Given the description of an element on the screen output the (x, y) to click on. 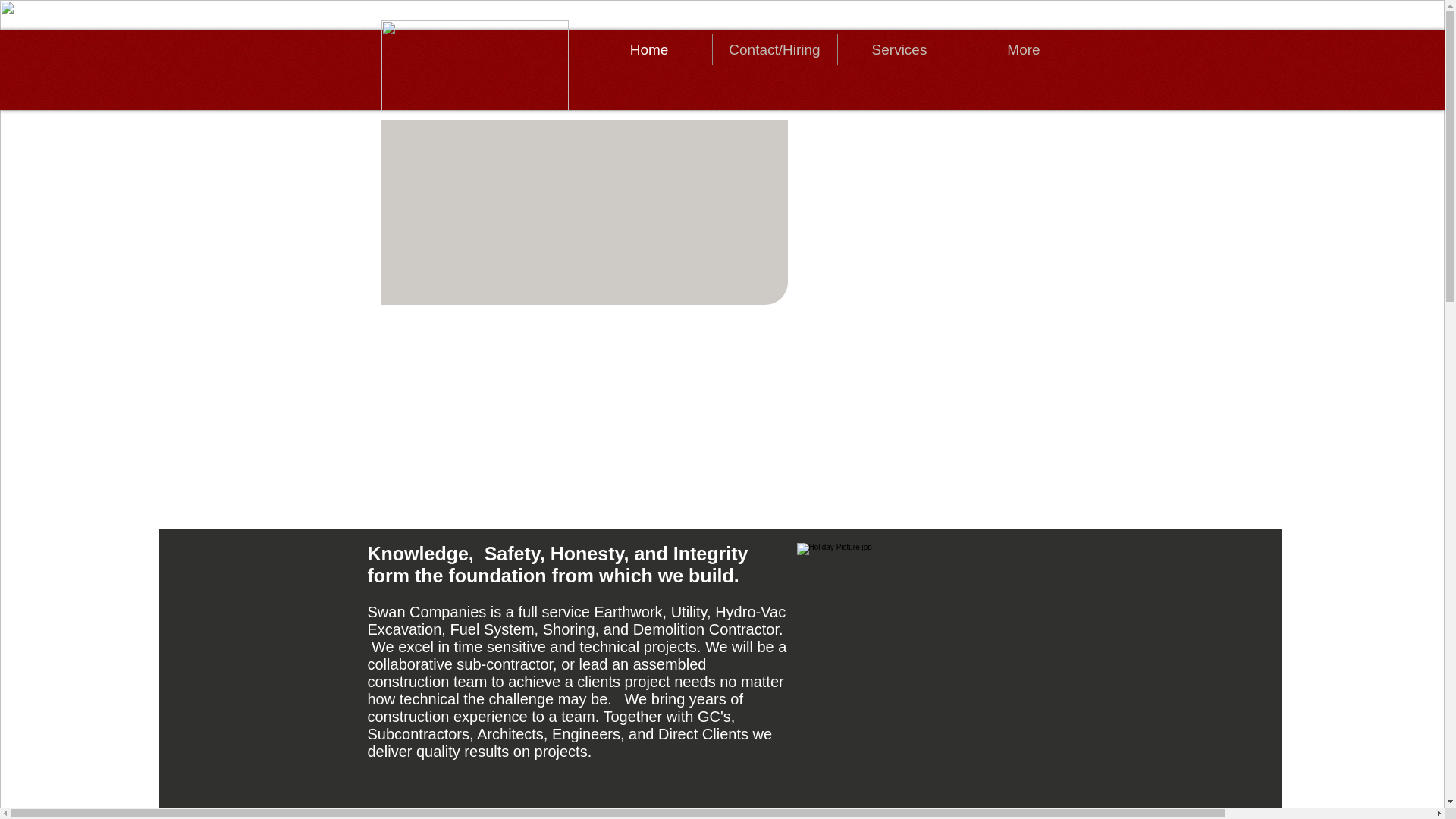
Full Logo - Transparent.png (473, 65)
Home (648, 49)
Services (898, 49)
